Given the description of an element on the screen output the (x, y) to click on. 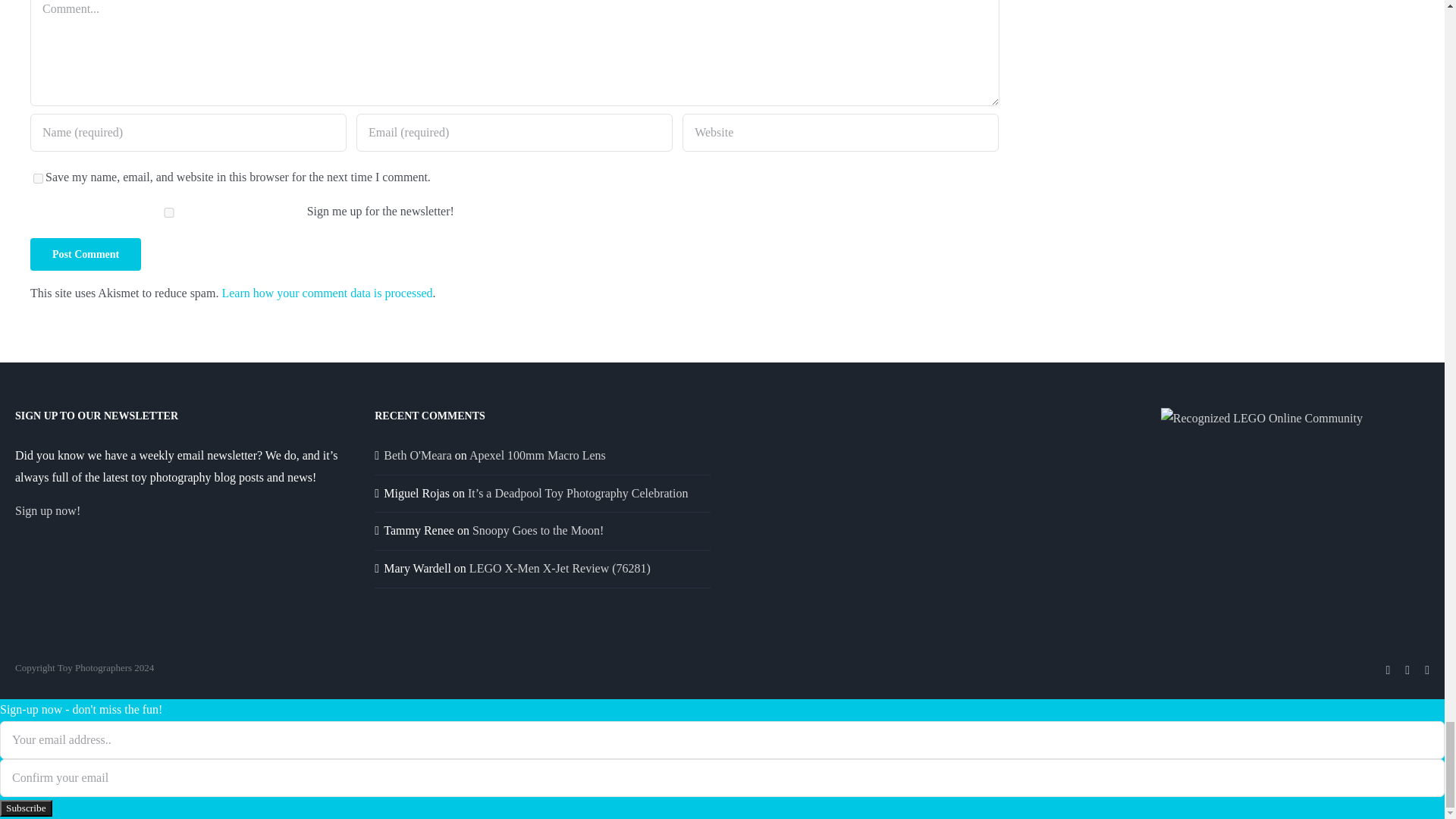
yes (38, 178)
Post Comment (85, 254)
Subscribe (26, 808)
1 (168, 212)
